Given the description of an element on the screen output the (x, y) to click on. 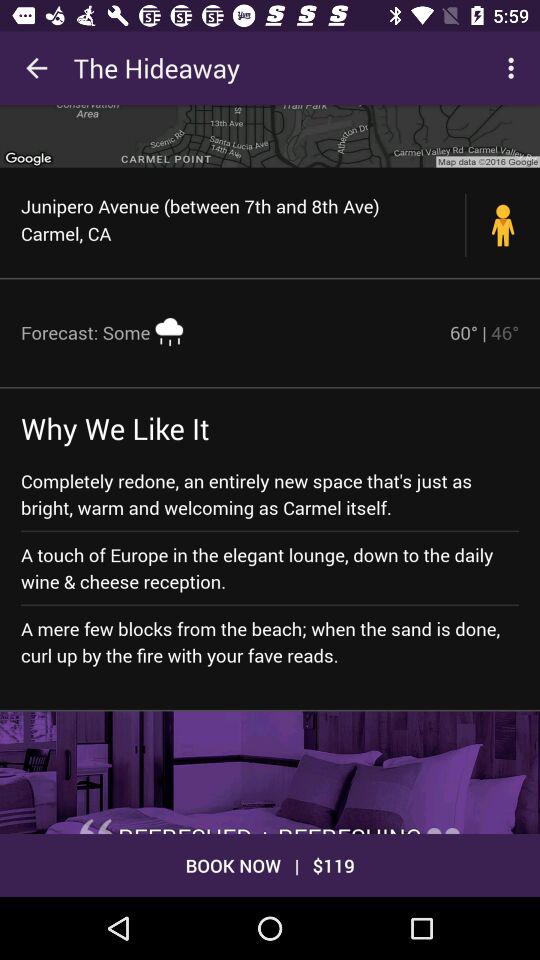
open icon to the left of the hideaway (36, 68)
